Given the description of an element on the screen output the (x, y) to click on. 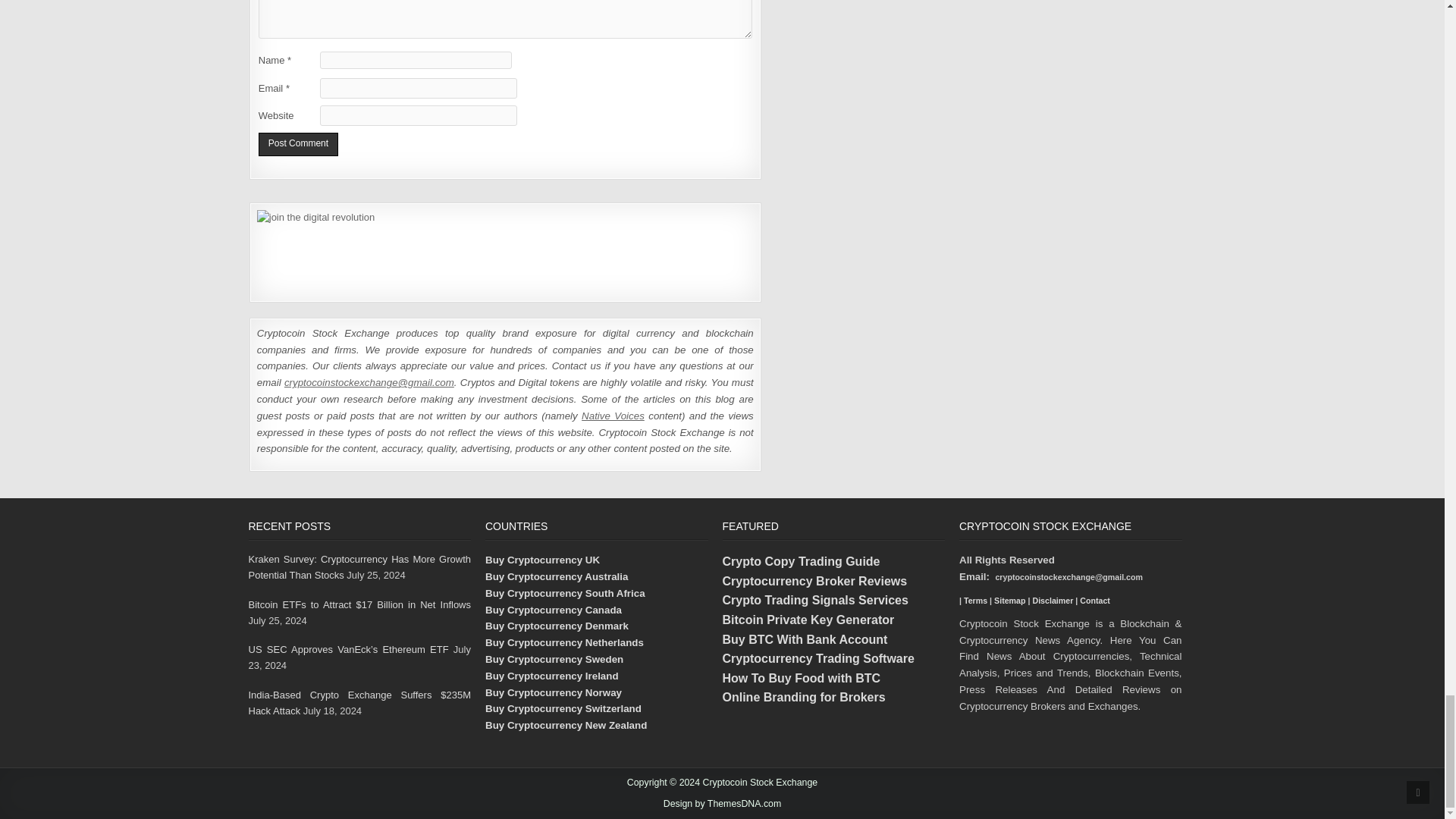
Post Comment (298, 144)
